Given the description of an element on the screen output the (x, y) to click on. 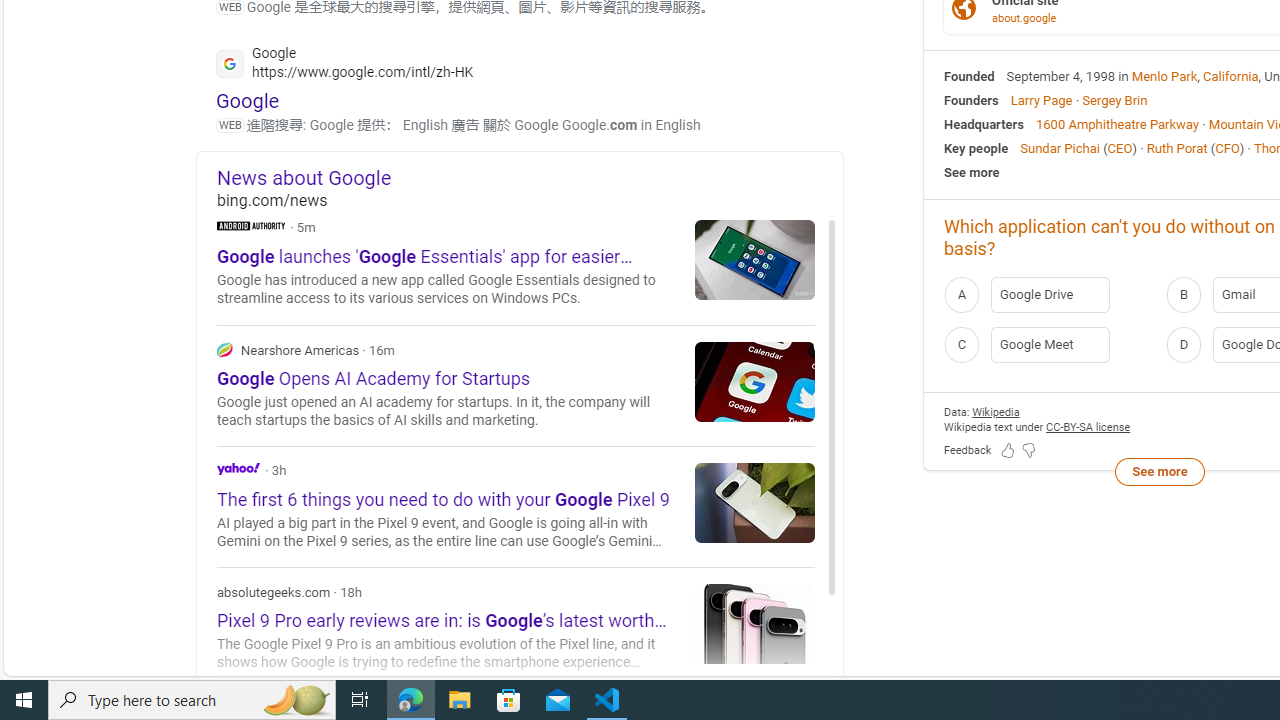
Google Opens AI Academy for Startups (755, 381)
Founders (971, 100)
Data attribution Wikipedia (995, 411)
Android Authority (251, 224)
Feedback Dislike (1028, 450)
C Google Meet (1049, 344)
See more (1159, 471)
Headquarters (984, 123)
Nearshore Americas (224, 349)
bing.com/news (530, 199)
Sergey Brin (1114, 100)
